Given the description of an element on the screen output the (x, y) to click on. 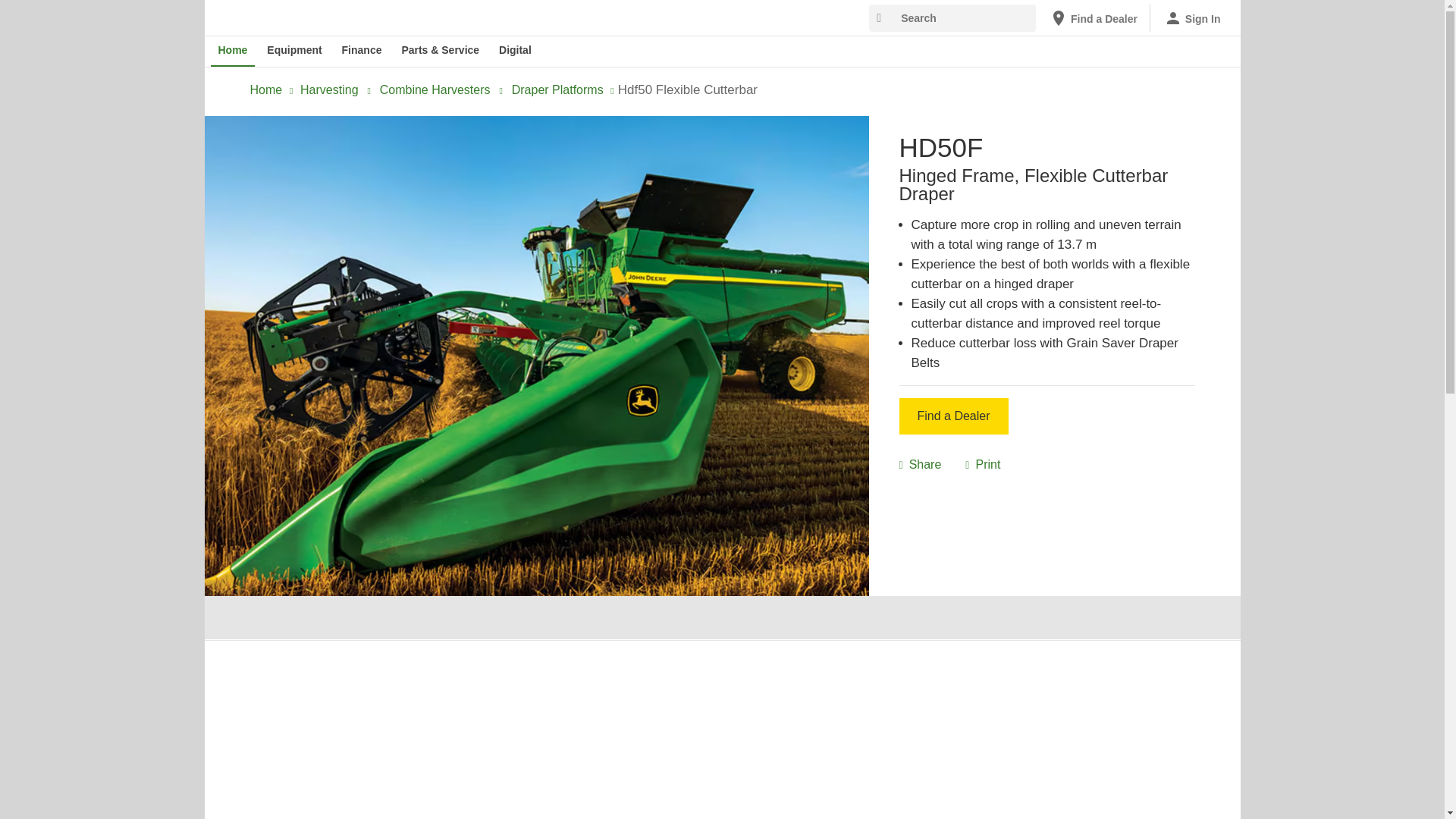
Digital (515, 51)
Finance (362, 51)
Skip to main content (214, 11)
Equipment (294, 51)
Sign In (1192, 17)
Home (233, 51)
Find a Dealer (1093, 17)
John Deere (288, 17)
